Given the description of an element on the screen output the (x, y) to click on. 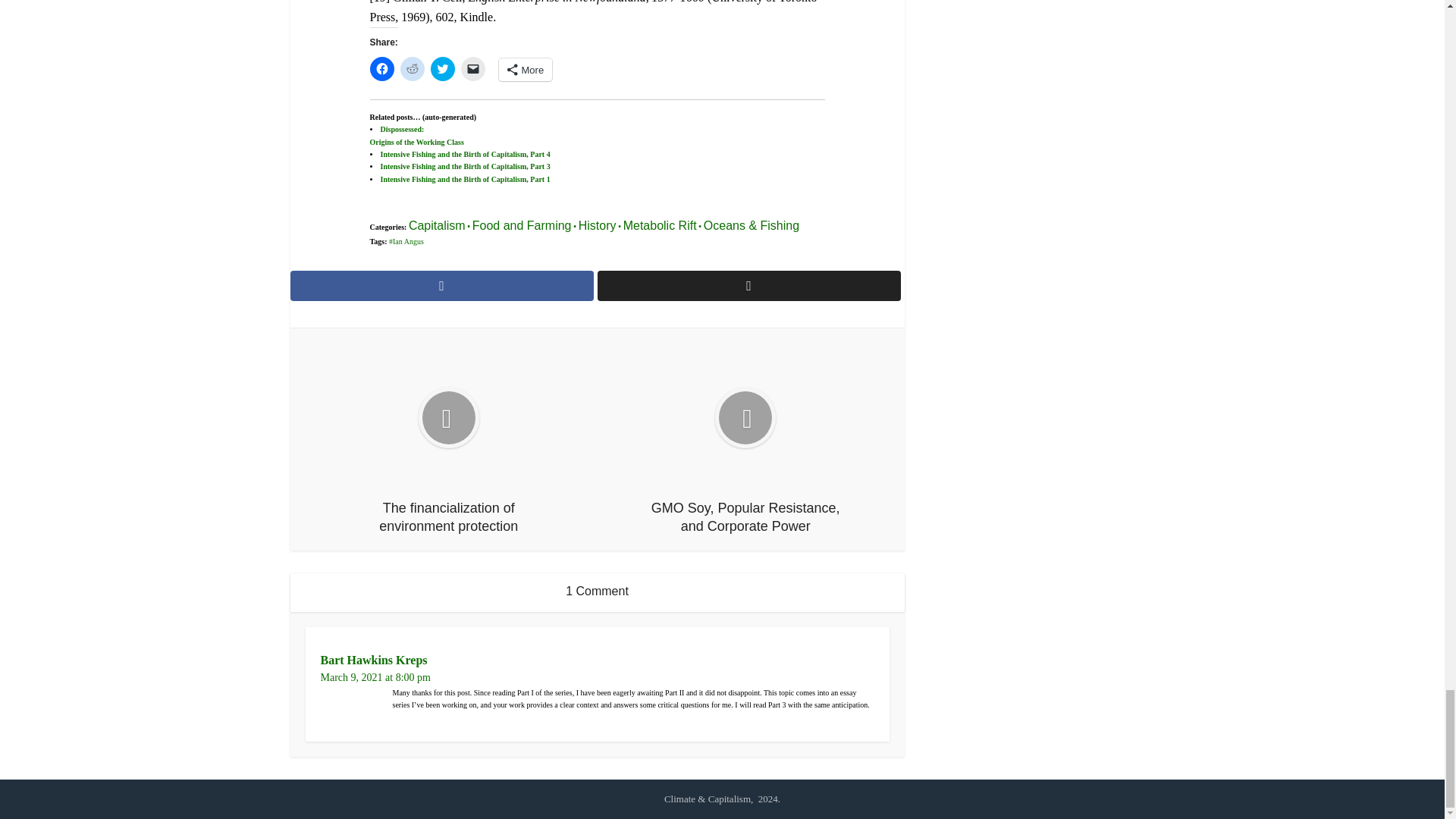
Click to share on Facebook (381, 68)
Click to share on Twitter (442, 68)
Click to share on Reddit (412, 68)
